Given the description of an element on the screen output the (x, y) to click on. 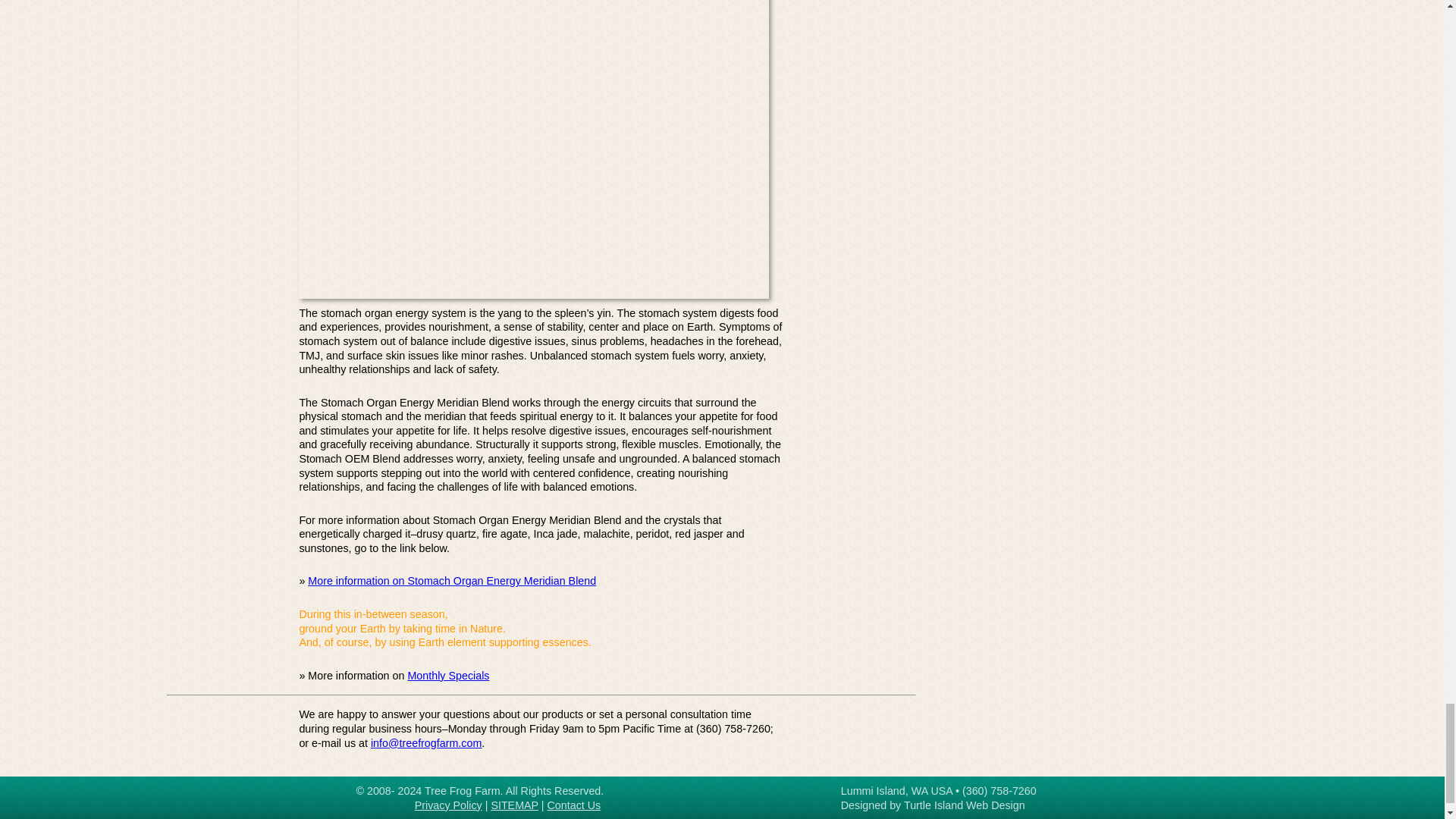
Monthly Specials (448, 675)
More information on Stomach Organ Energy Meridian Blend (451, 580)
